Given the description of an element on the screen output the (x, y) to click on. 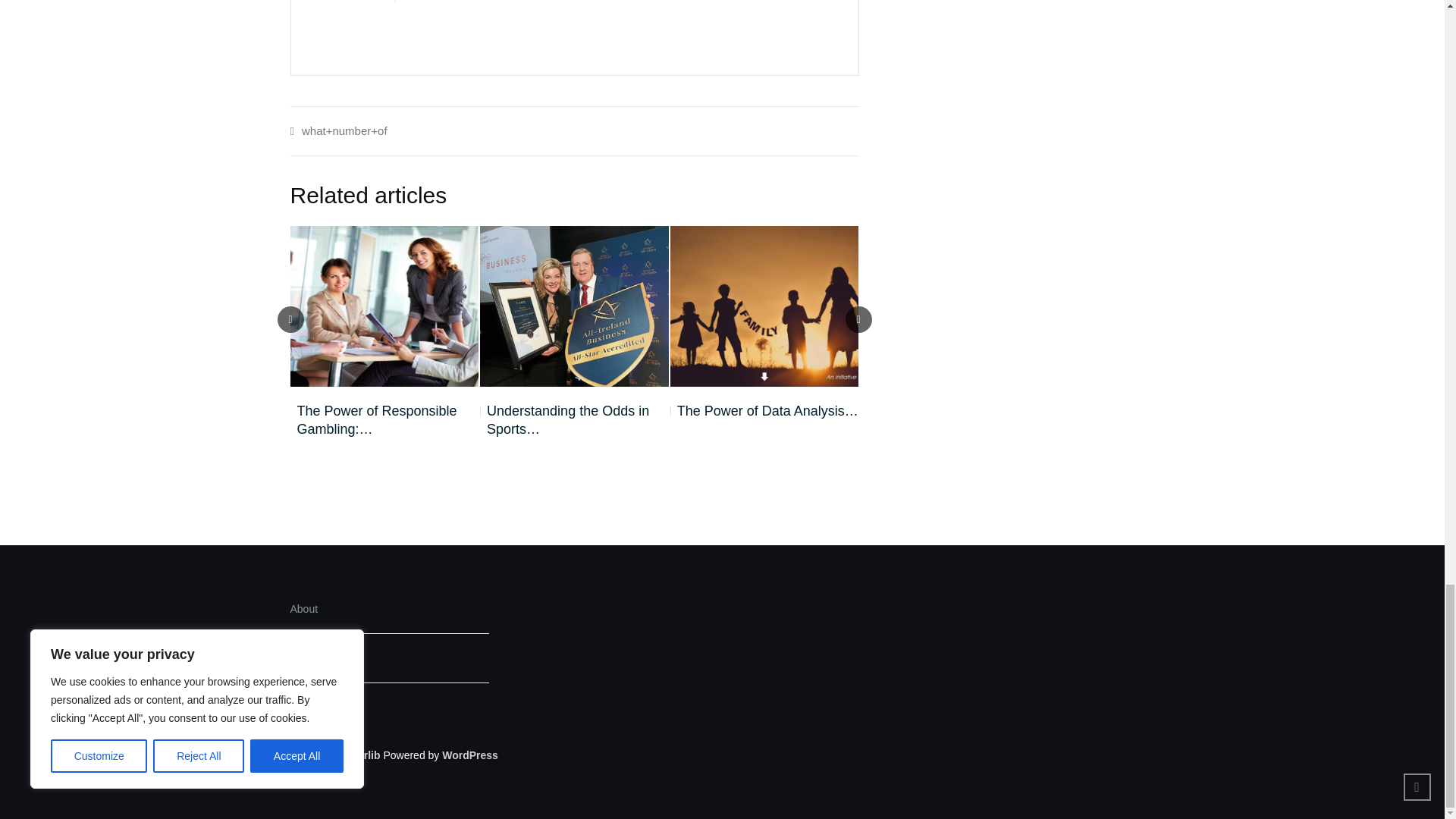
Colorlib (360, 755)
WordPress.org (469, 755)
